Given the description of an element on the screen output the (x, y) to click on. 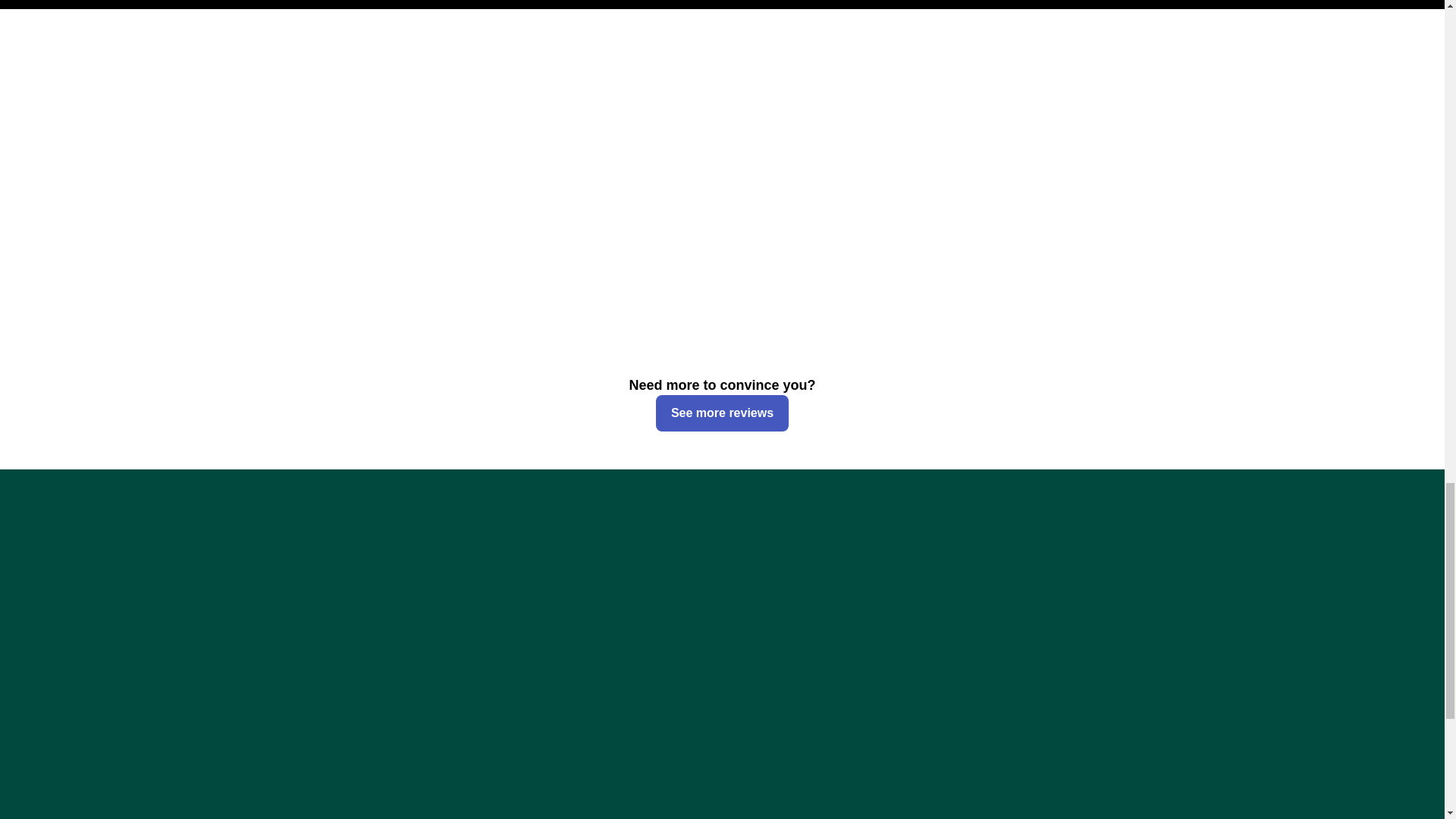
See more reviews (722, 412)
